Given the description of an element on the screen output the (x, y) to click on. 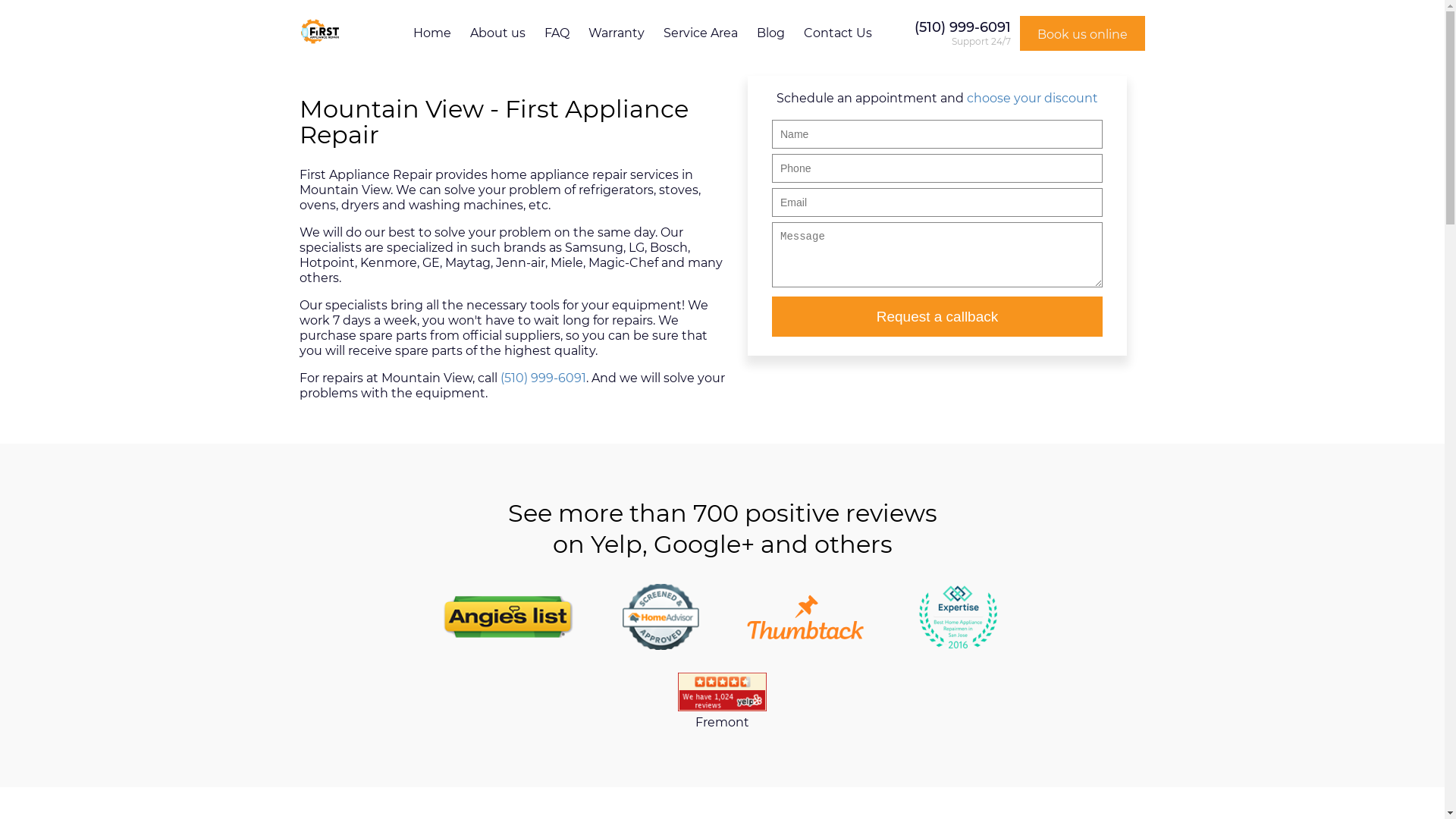
FAQ Element type: text (556, 32)
Book us online Element type: text (1077, 32)
About us Element type: text (497, 32)
Contact Us Element type: text (837, 32)
(510) 999-6091 Element type: text (543, 377)
Service Area Element type: text (700, 32)
Request a callback Element type: text (936, 316)
Blog Element type: text (770, 32)
Warranty Element type: text (616, 32)
Home Element type: text (432, 32)
(510) 999-6091 Element type: text (962, 26)
